Given the description of an element on the screen output the (x, y) to click on. 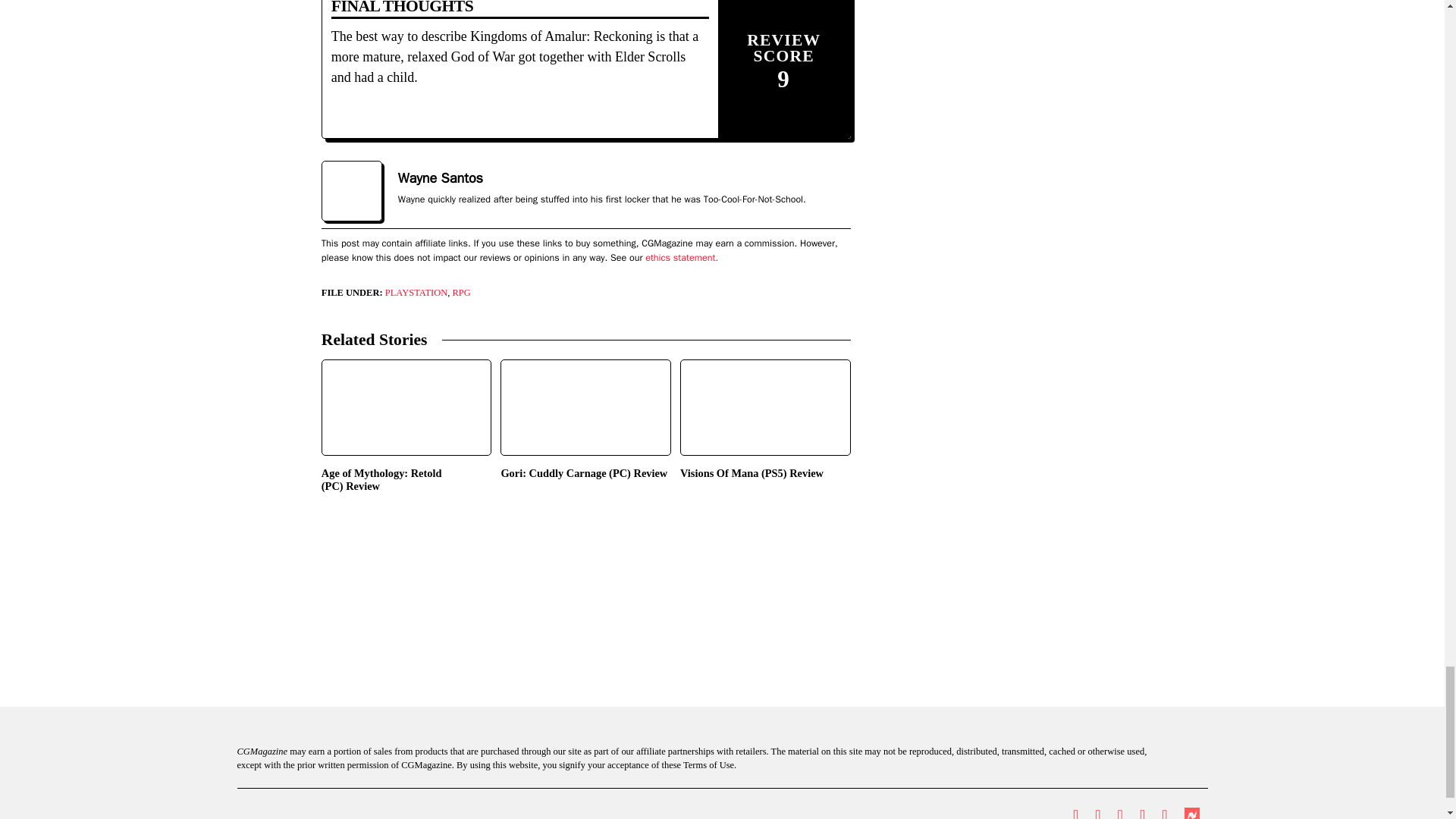
YouTube Page (1142, 811)
Twitter Profile (1075, 811)
Wayne Santos (440, 178)
Instagram Profile (1120, 811)
Flipboard Page (1163, 811)
CGMagazine (353, 811)
NewsBreak (1190, 813)
Facebook Page (1097, 811)
